Given the description of an element on the screen output the (x, y) to click on. 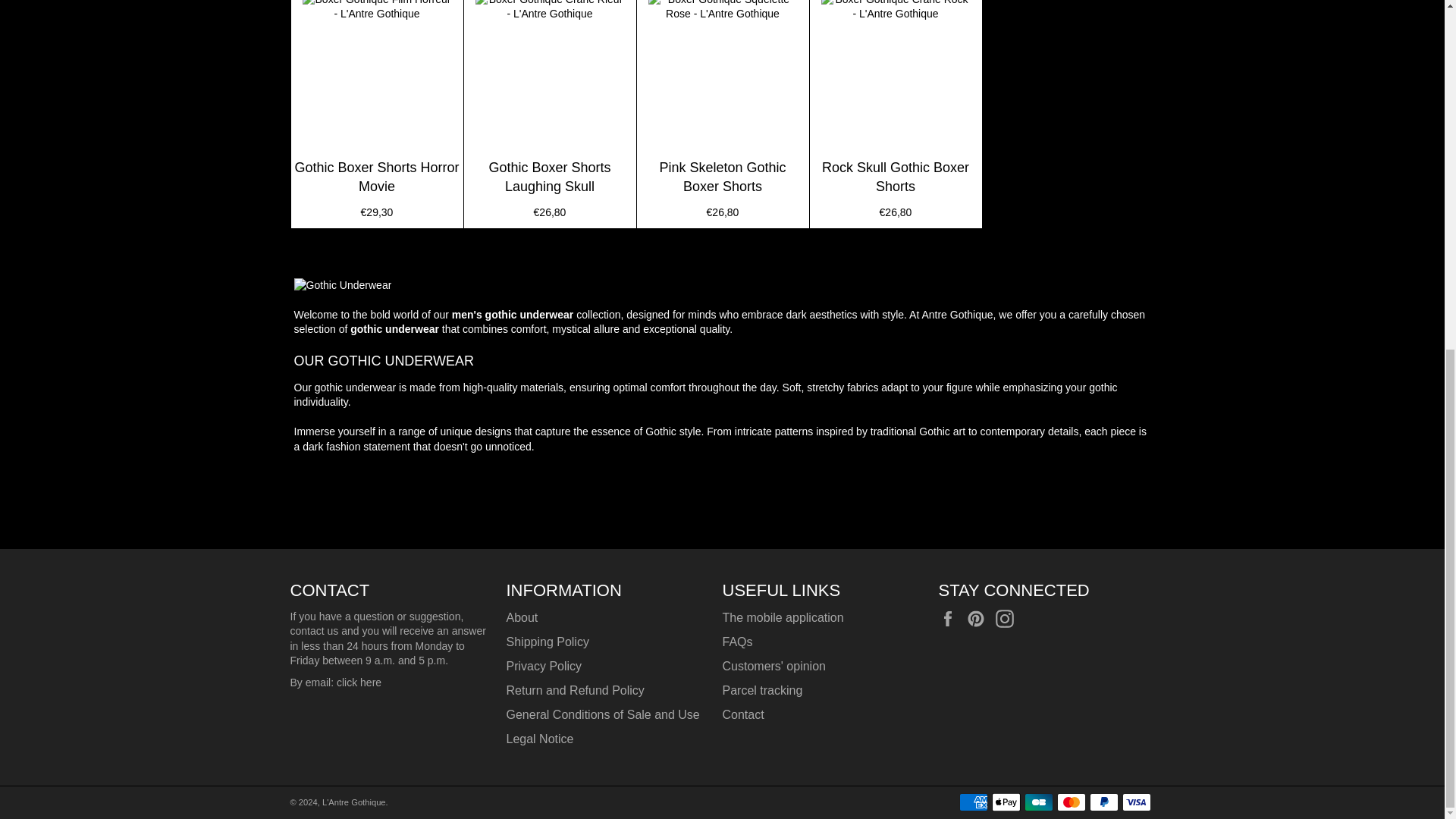
L'Antre Gothique on Instagram (1008, 618)
L'Antre Gothique on Pinterest (979, 618)
CONTACT US (358, 682)
L'Antre Gothique on Facebook (951, 618)
